Given the description of an element on the screen output the (x, y) to click on. 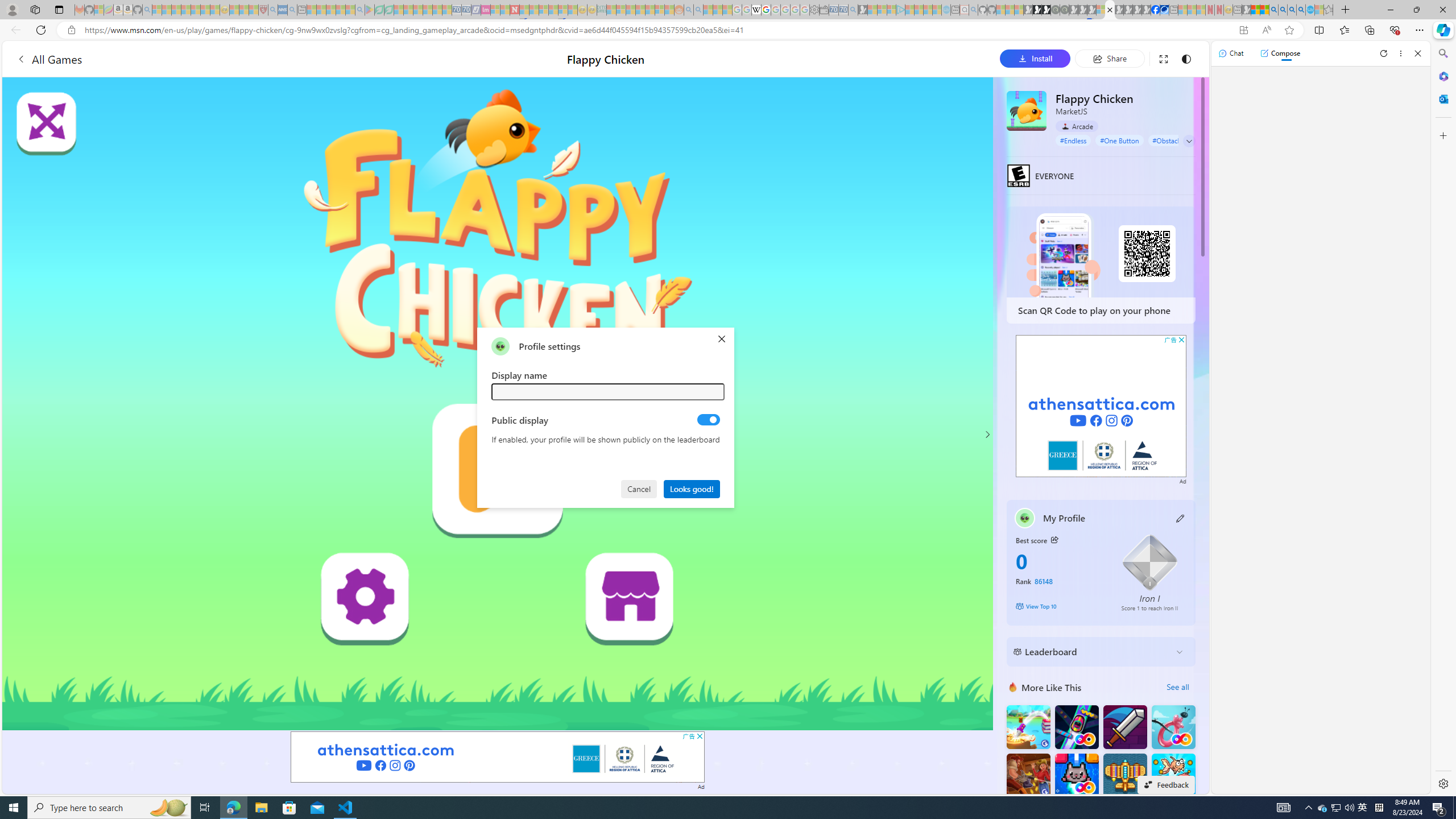
All Games (212, 58)
#One Button (1119, 140)
